Given the description of an element on the screen output the (x, y) to click on. 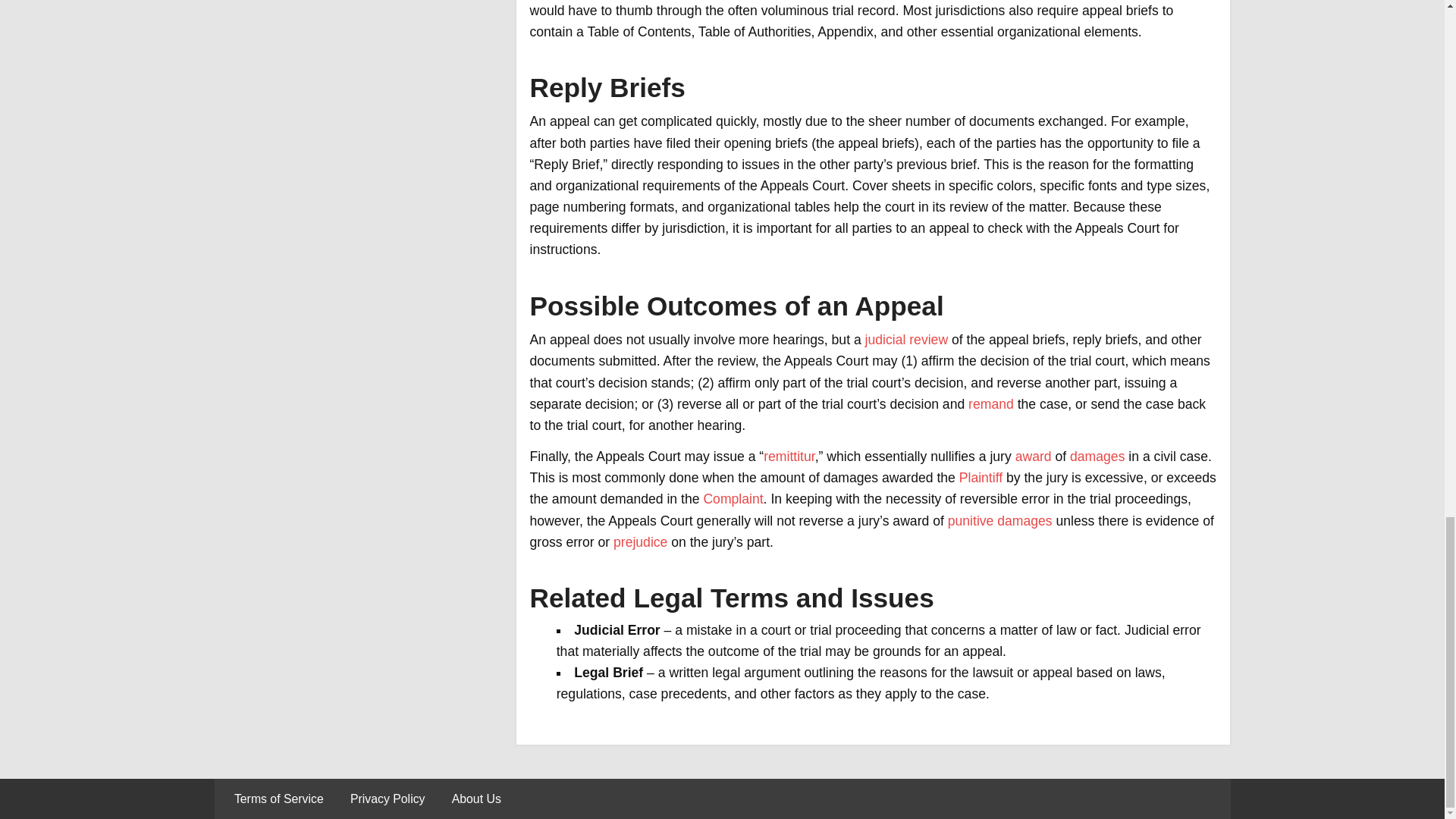
damages (1097, 456)
award (1032, 456)
punitive damages (999, 520)
Complaint (732, 498)
remand (990, 403)
judicial review (906, 339)
Plaintiff (981, 477)
remittitur (787, 456)
